Given the description of an element on the screen output the (x, y) to click on. 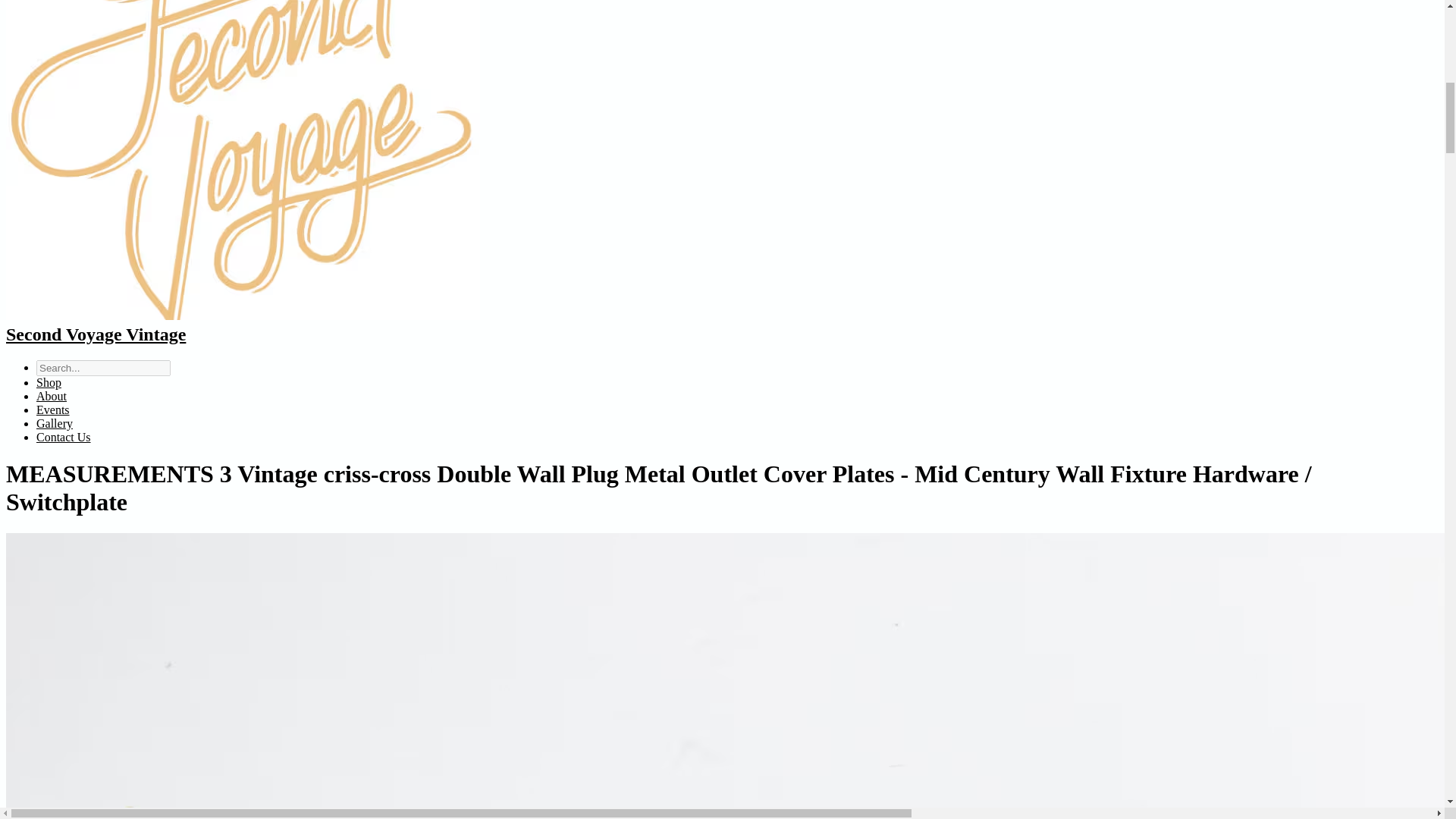
Gallery (54, 422)
Events (52, 409)
About (51, 395)
Shop (48, 382)
Contact Us (63, 436)
